Given the description of an element on the screen output the (x, y) to click on. 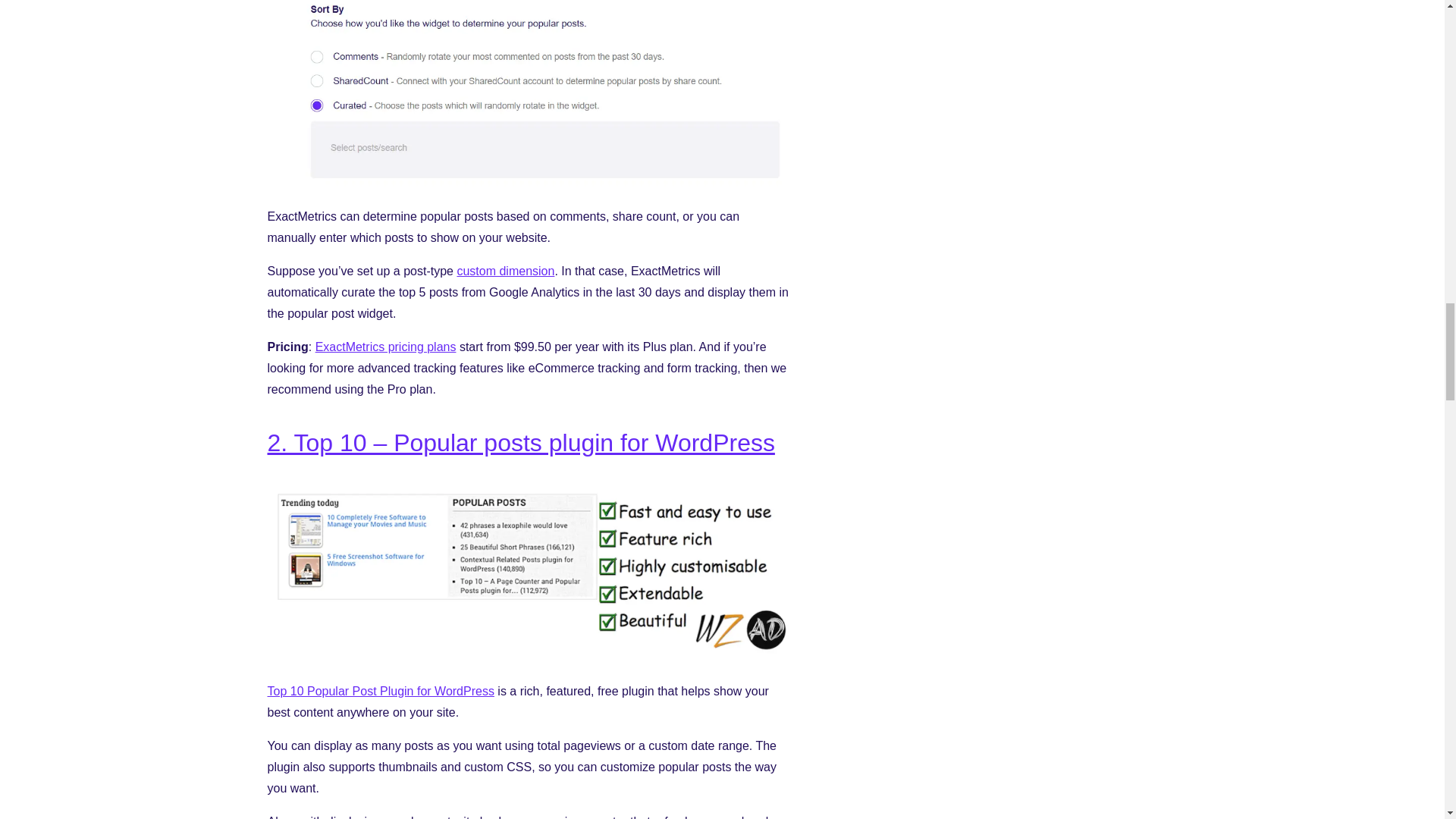
Top 10 Popular Post Plugin for WordPress (379, 690)
top 10 popular posts plugin for wordpress - ExactMetrics (528, 657)
ExactMetrics pricing plans (386, 346)
custom dimension (505, 270)
exactmetrics popular post behavior settings - ExactMetrics (528, 182)
